Given the description of an element on the screen output the (x, y) to click on. 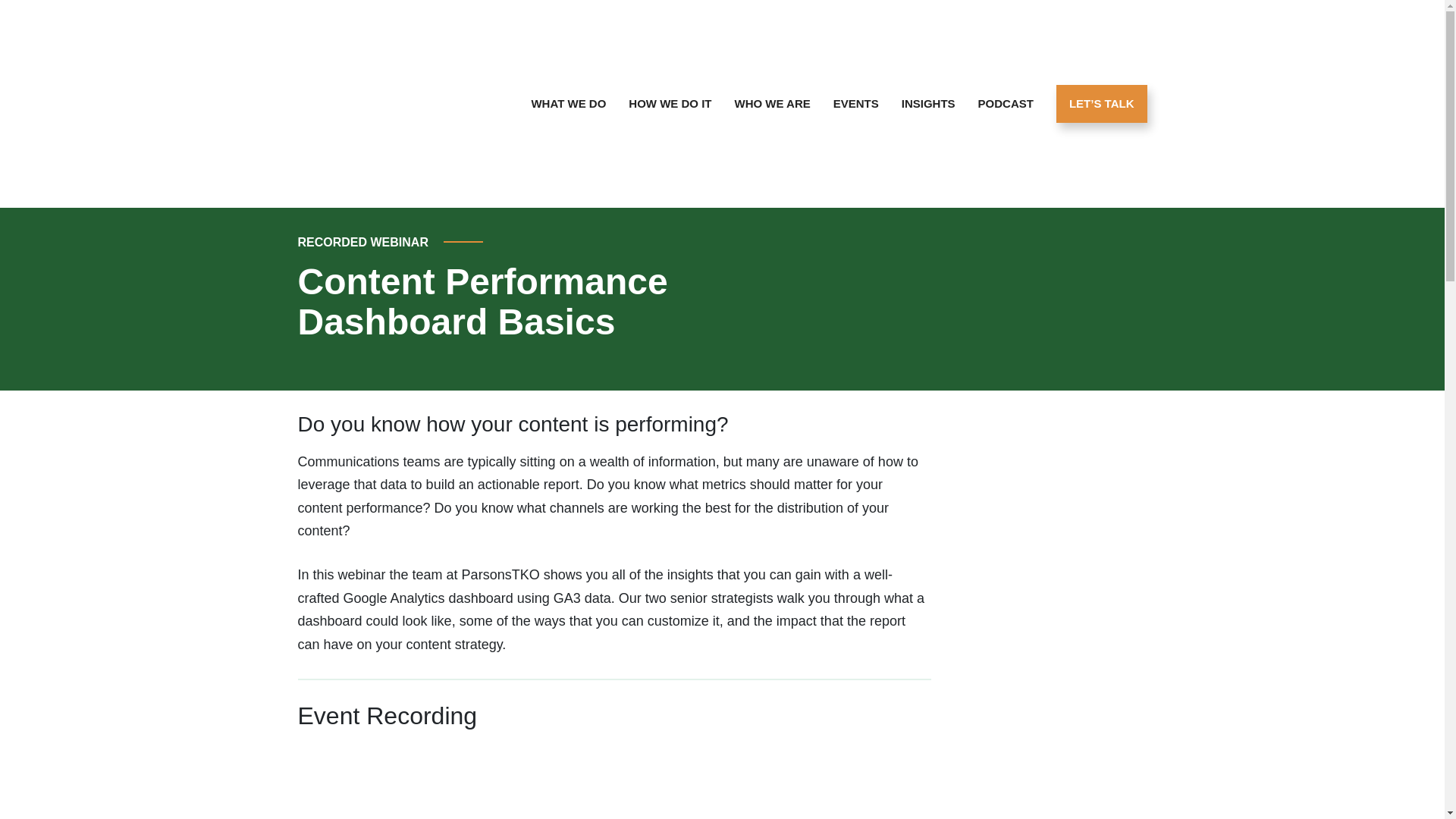
WHAT WE DO (568, 103)
Field Reports (928, 103)
What We Do (568, 103)
Who We Are (771, 103)
How We Do It (669, 103)
WHO WE ARE (771, 103)
YouTube video player (509, 781)
PODCAST (1005, 103)
HOW WE DO IT (669, 103)
INSIGHTS (928, 103)
EVENTS (855, 103)
